Given the description of an element on the screen output the (x, y) to click on. 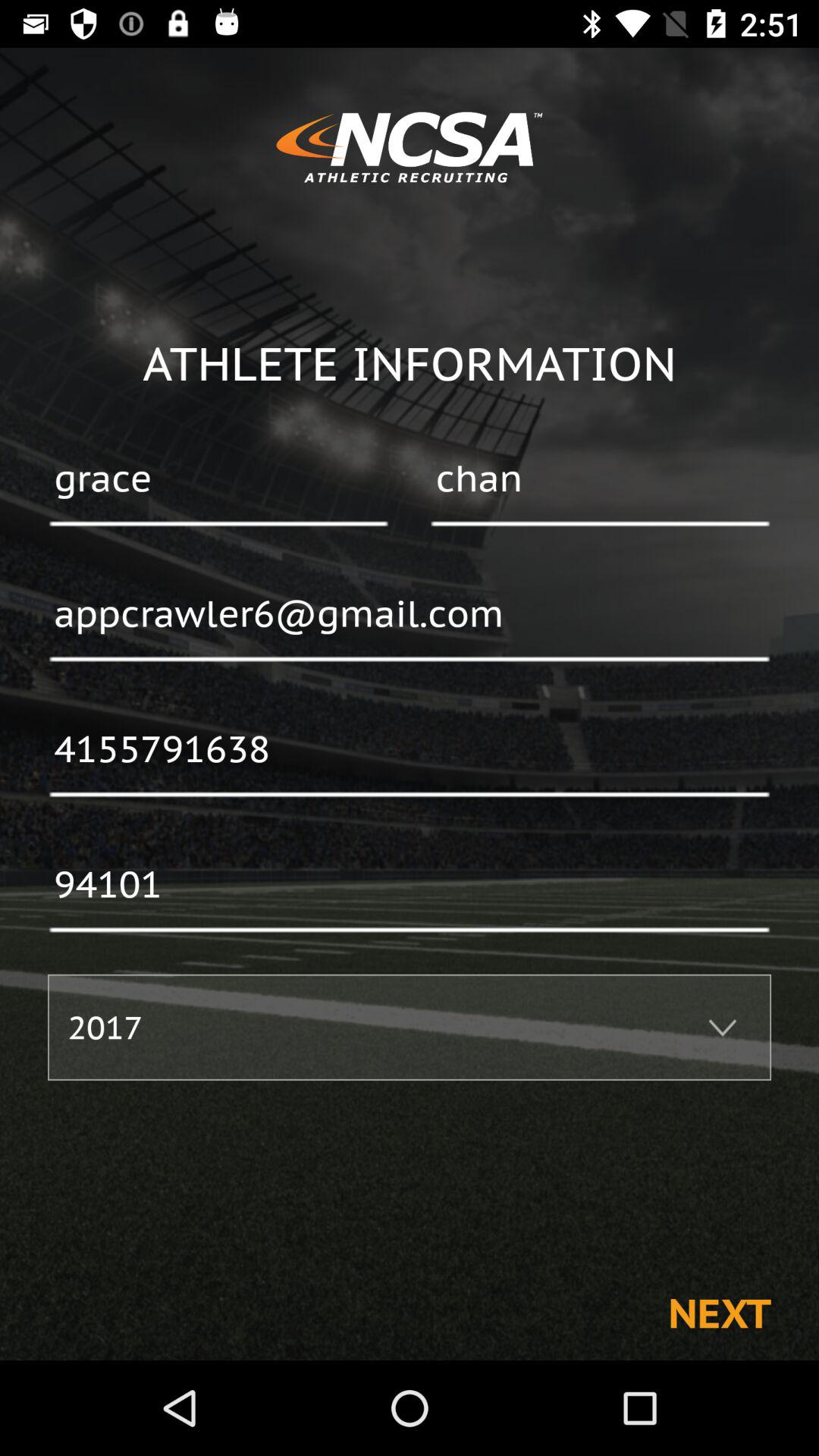
launch the 94101 (409, 885)
